Given the description of an element on the screen output the (x, y) to click on. 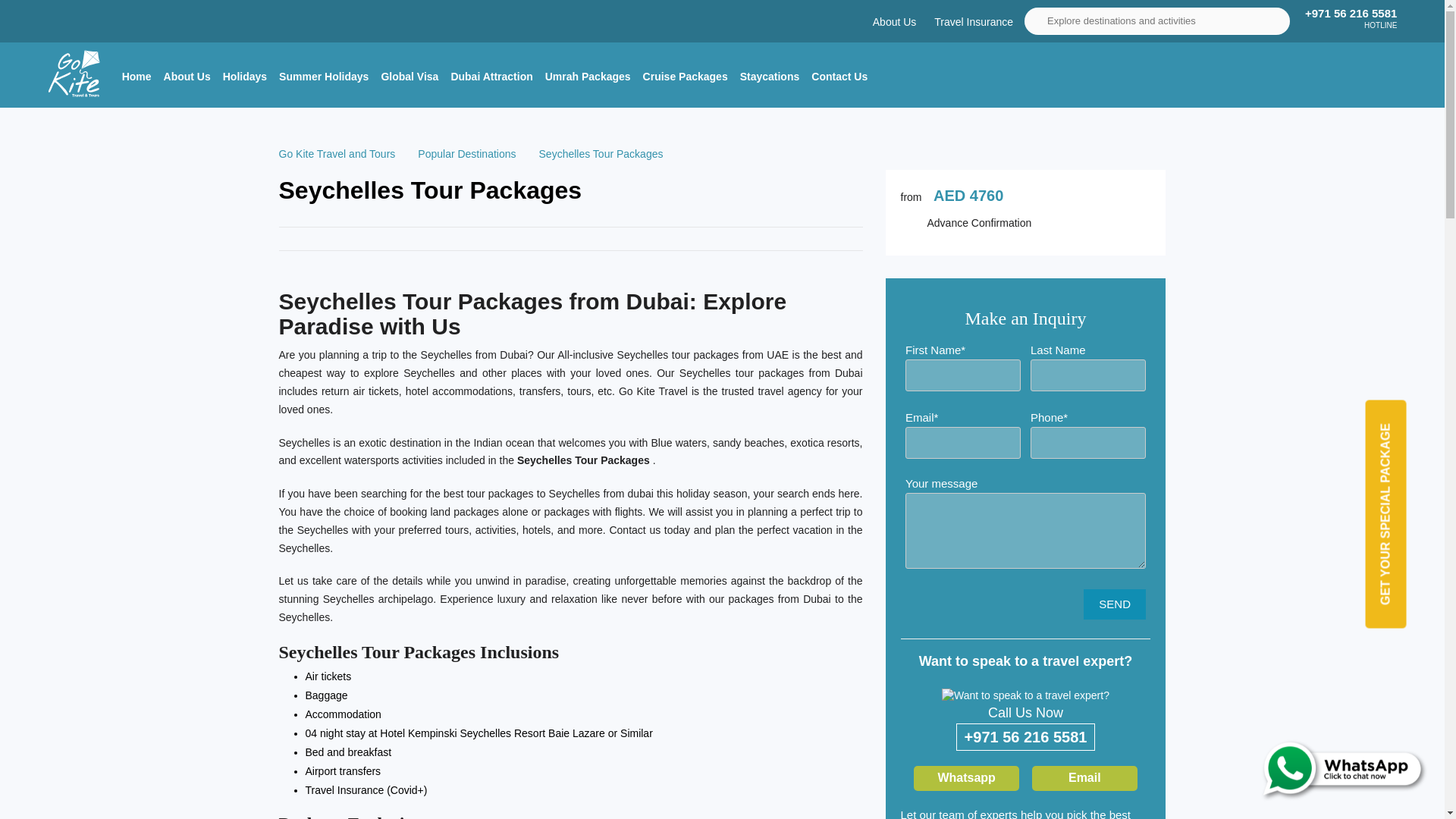
Dubai Attraction (491, 76)
Send whatsApp message (1315, 767)
Umrah Packages (587, 76)
Global Visa (409, 76)
Email (1084, 778)
About Us (894, 21)
Go Kite Travel and Tours (337, 153)
Cruise Packages (685, 76)
Whatsapp (966, 778)
Go to Popular Destinations. (466, 153)
